Given the description of an element on the screen output the (x, y) to click on. 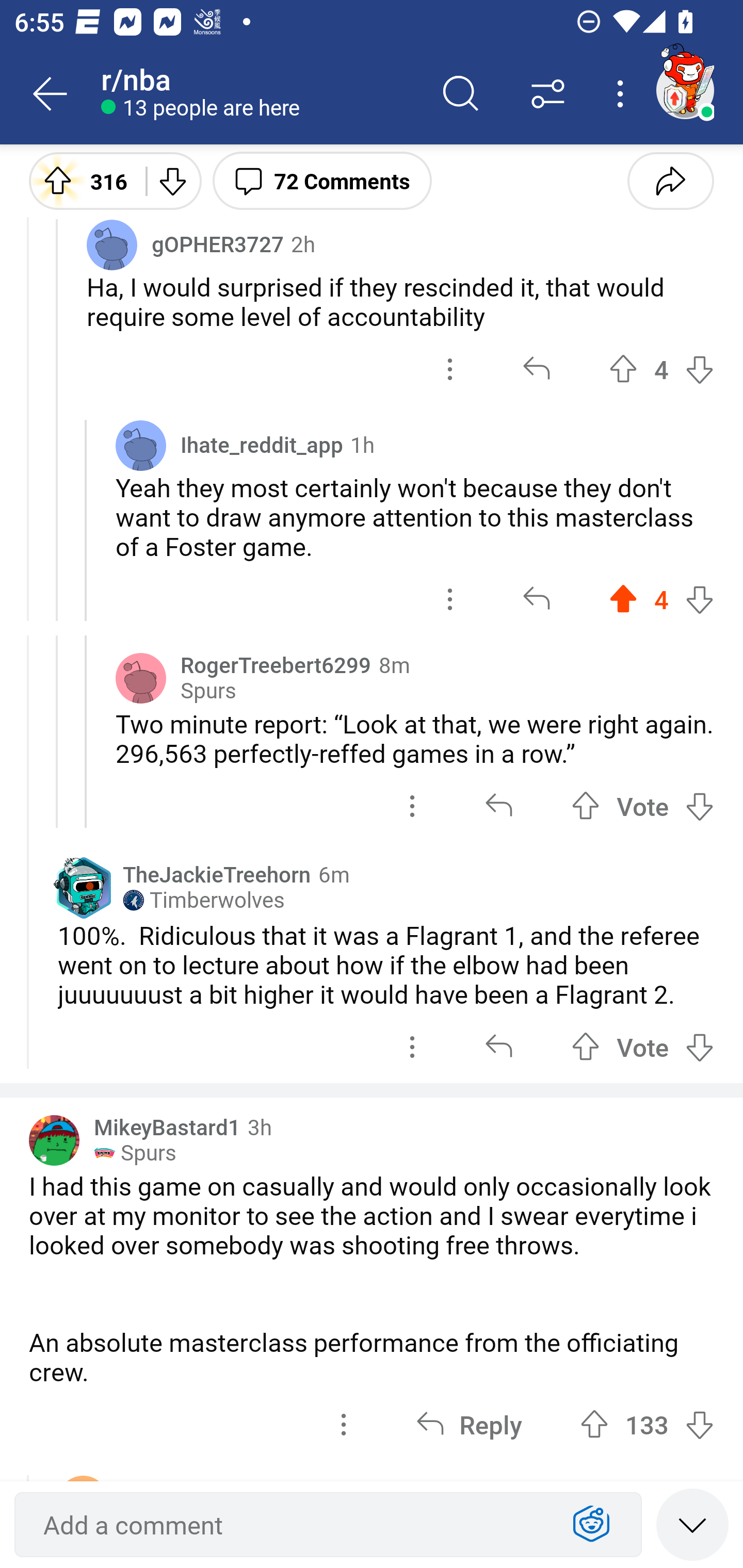
Back (50, 93)
TestAppium002 account (685, 90)
Search comments (460, 93)
Sort comments (547, 93)
More options (623, 93)
r/nba 13 people are here (259, 93)
Upvote 316 (79, 180)
Downvote (171, 180)
72 Comments (321, 180)
Share (670, 180)
Avatar (111, 244)
options (449, 369)
Upvote 4 4 votes Downvote (661, 369)
Avatar (140, 445)
options (449, 598)
Upvote 4 4 votes Downvote (661, 598)
Avatar (140, 678)
Spurs (208, 691)
options (412, 805)
Upvote Vote Downvote (642, 805)
￼ Timberwolves (203, 899)
options (412, 1047)
Upvote Vote Downvote (642, 1047)
Avatar (53, 1139)
￼ Spurs (134, 1152)
options (343, 1425)
Reply (469, 1425)
Upvote 133 133 votes Downvote (647, 1425)
Speed read (692, 1524)
Add a comment (291, 1524)
Show Expressions (590, 1524)
